Given the description of an element on the screen output the (x, y) to click on. 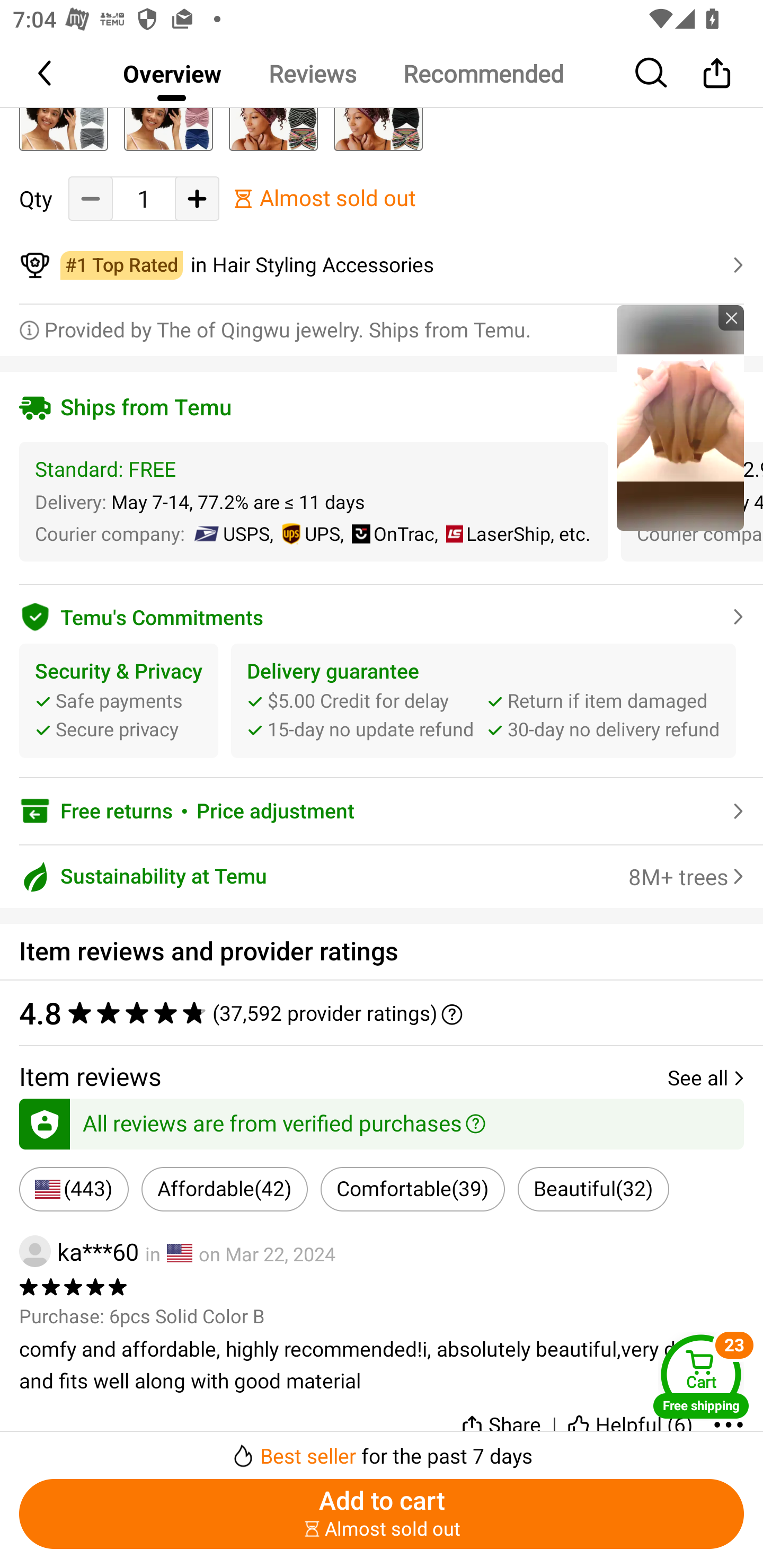
Overview (171, 72)
Reviews (311, 72)
Recommended (482, 72)
Back (46, 72)
Share (716, 72)
Decrease Quantity Button (90, 198)
Add Quantity button (196, 198)
1 (143, 199)
￼￼in Hair Styling Accessories (381, 265)
tronplayer_view (680, 417)
Ships from Temu (381, 406)
Temu's Commitments (381, 613)
Security & Privacy Safe payments Secure privacy (118, 699)
Free returns￼Price adjustment (381, 811)
Sustainability at Temu 8M+ trees (381, 876)
4.8 ‪(37,592 provider ratings) (371, 1012)
(443) (73, 1189)
Affordable(42) (224, 1189)
Comfortable(39) (412, 1189)
Beautiful(32) (593, 1189)
ka***60 (78, 1250)
Cart Free shipping Cart (701, 1375)
  Share (500, 1420)
  Helpful (6) (629, 1420)
￼￼Best seller for the past 7 days (381, 1450)
Add to cart ￼￼Almost sold out (381, 1513)
